Given the description of an element on the screen output the (x, y) to click on. 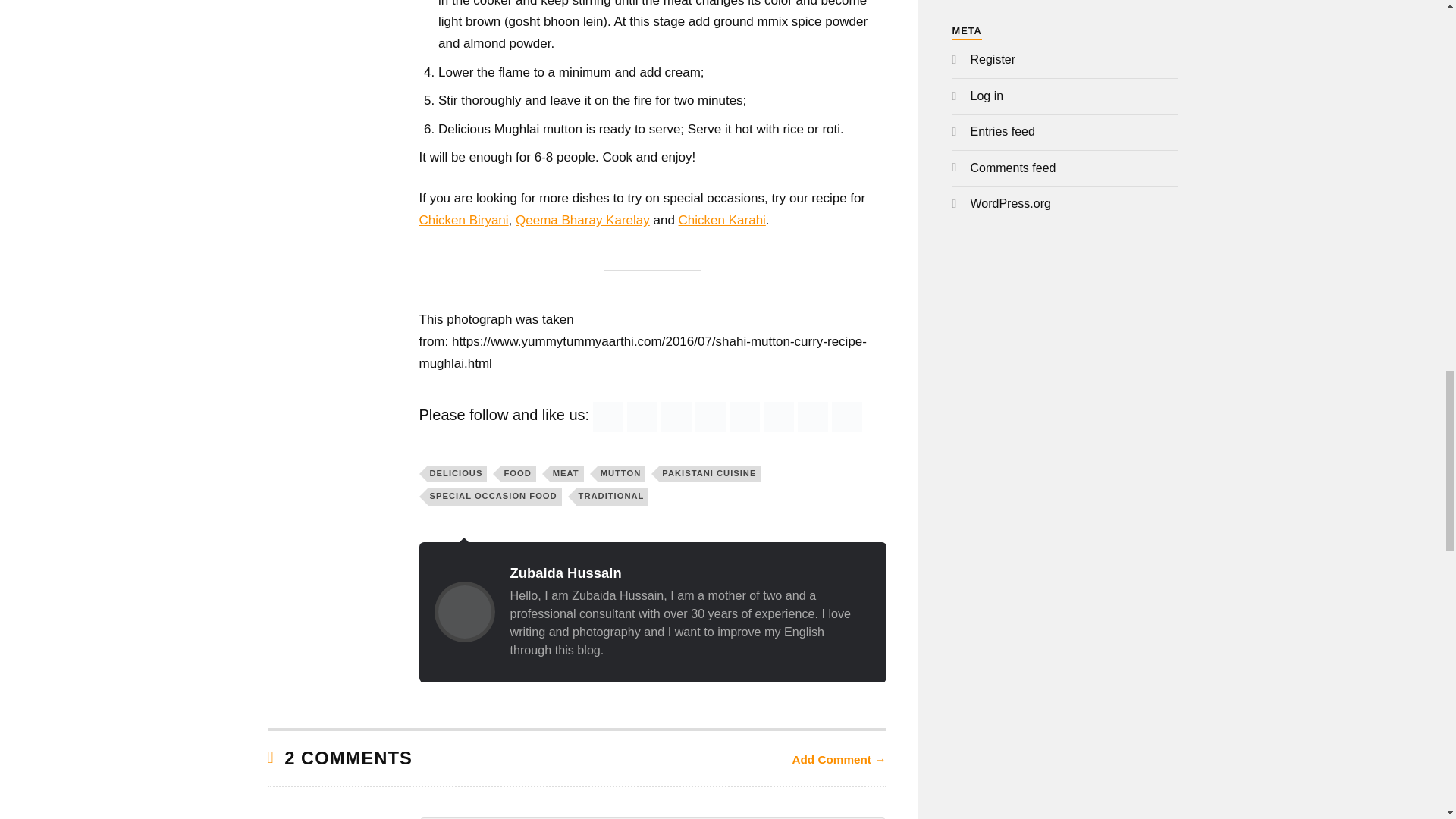
Facebook (676, 417)
Instagram (812, 417)
RSS (607, 417)
Follow by Email (642, 417)
LinkedIn (777, 417)
Pinterest (744, 417)
